Given the description of an element on the screen output the (x, y) to click on. 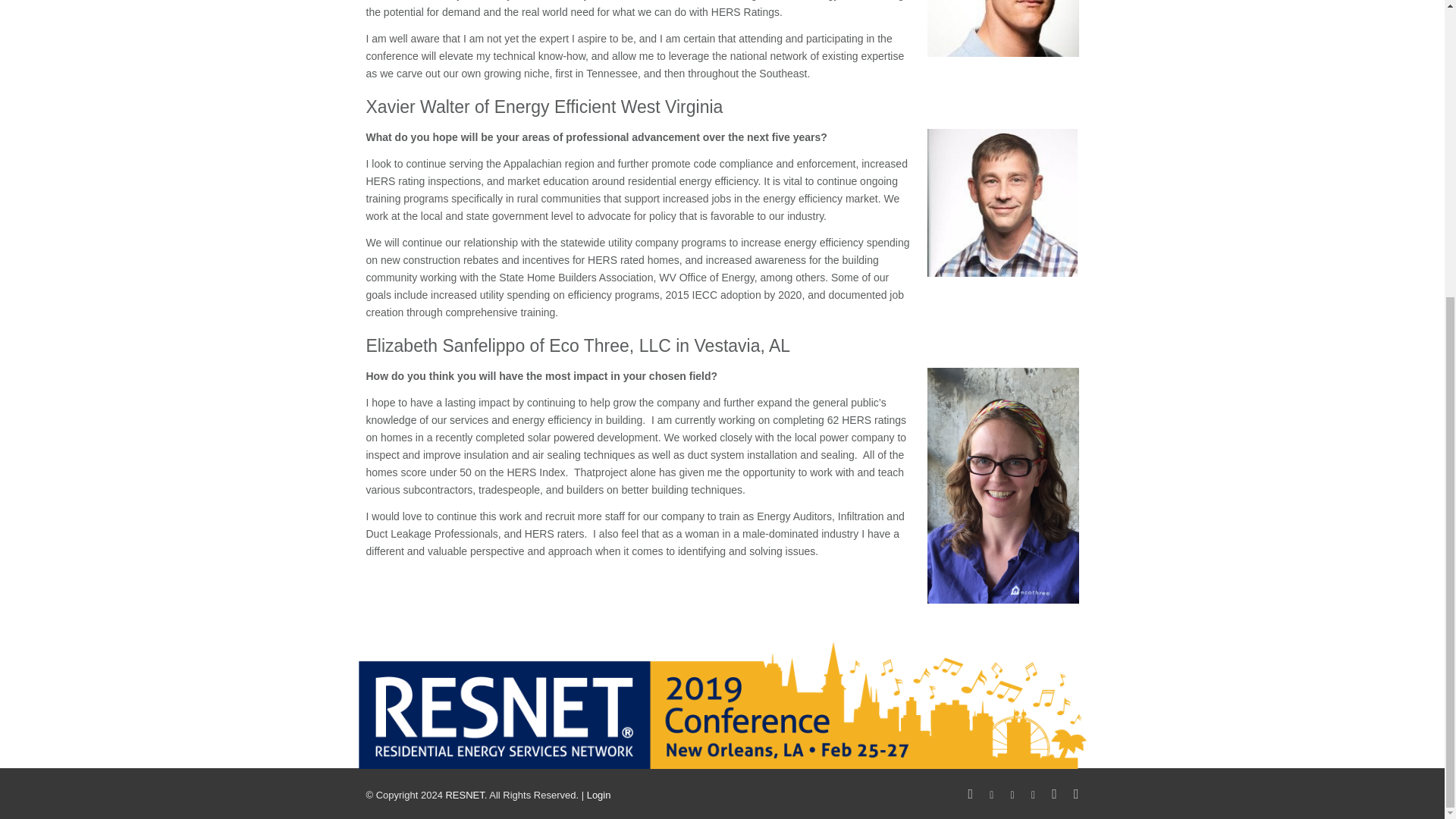
Login (598, 794)
RESNET (464, 794)
